Given the description of an element on the screen output the (x, y) to click on. 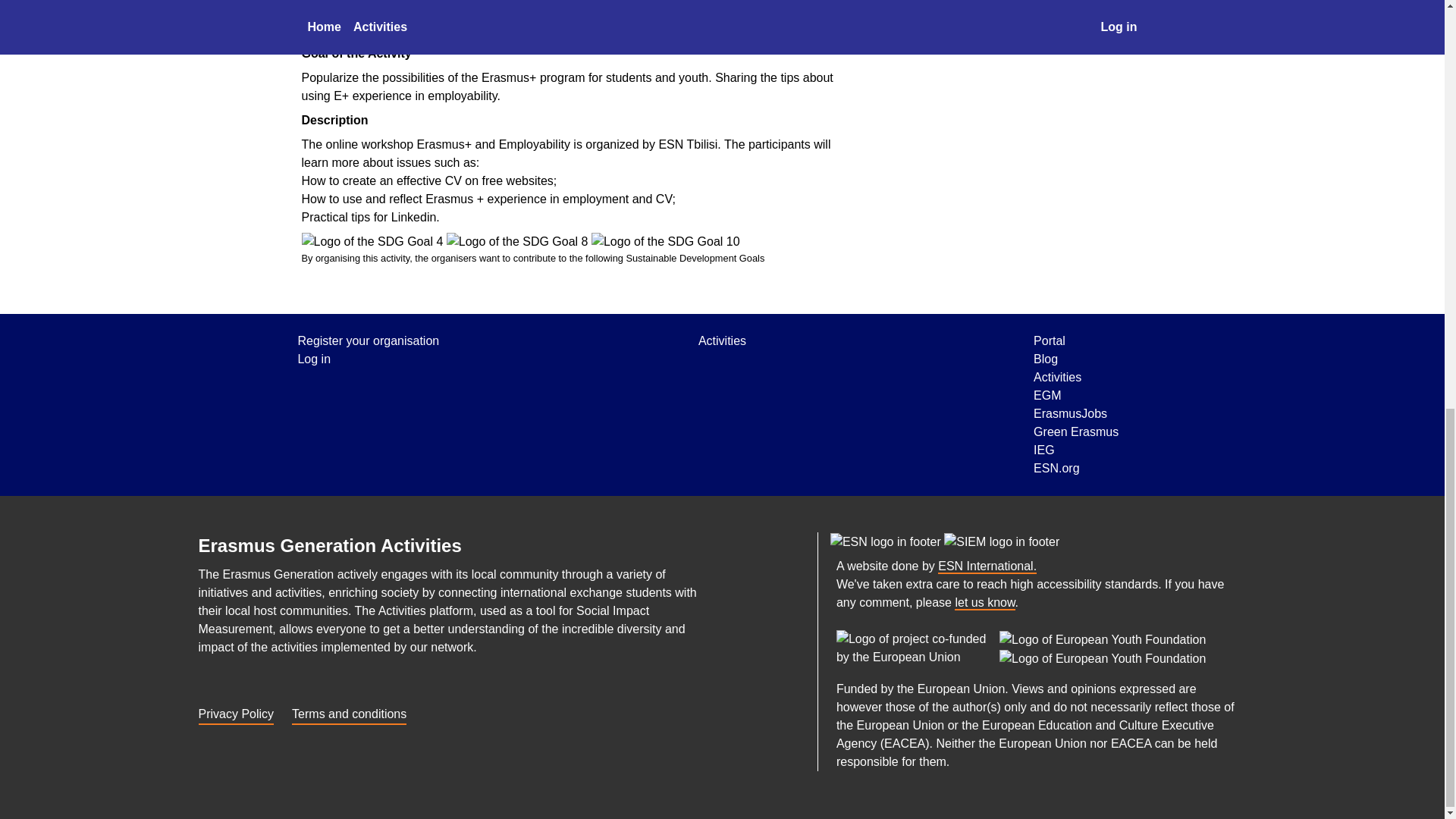
Green Erasmus (1075, 432)
Log in (368, 359)
Portal (1075, 341)
ESN.org (986, 566)
ESN.org (886, 540)
ESN.org (1075, 468)
EGM (1075, 395)
ErasmusJobs (1075, 413)
Goal 4: Quality Education (372, 241)
Goal 10: Reduced Inequalities (665, 241)
Blog (1075, 359)
Activities (1075, 377)
ESN Tbilisi ISU (918, 38)
Privacy Policy (236, 711)
Activities (721, 341)
